Given the description of an element on the screen output the (x, y) to click on. 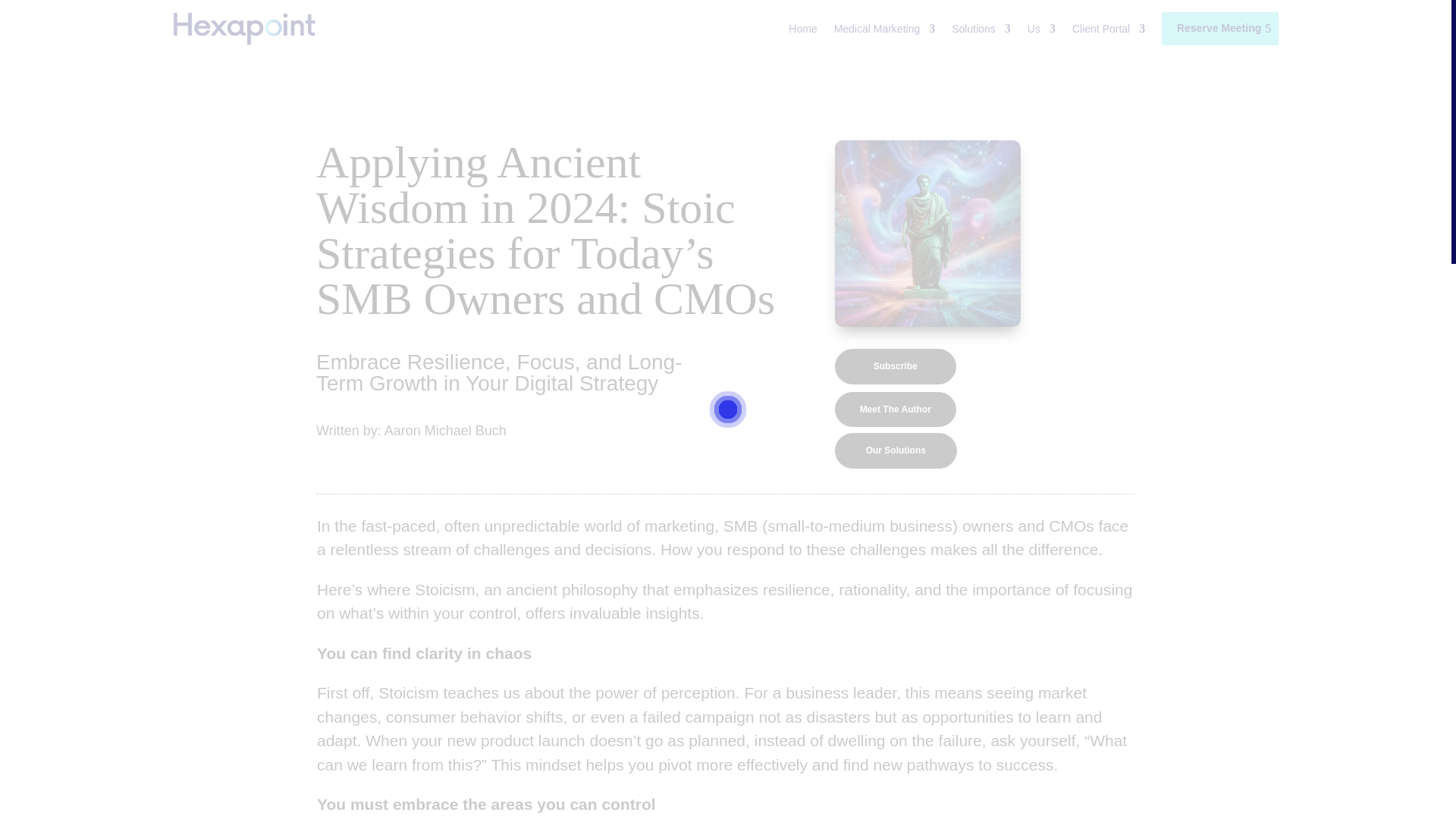
photographer-2 (928, 233)
Client Portal (1107, 28)
Solutions (981, 28)
Medical Marketing (885, 28)
Reserve Meeting (1219, 28)
